Given the description of an element on the screen output the (x, y) to click on. 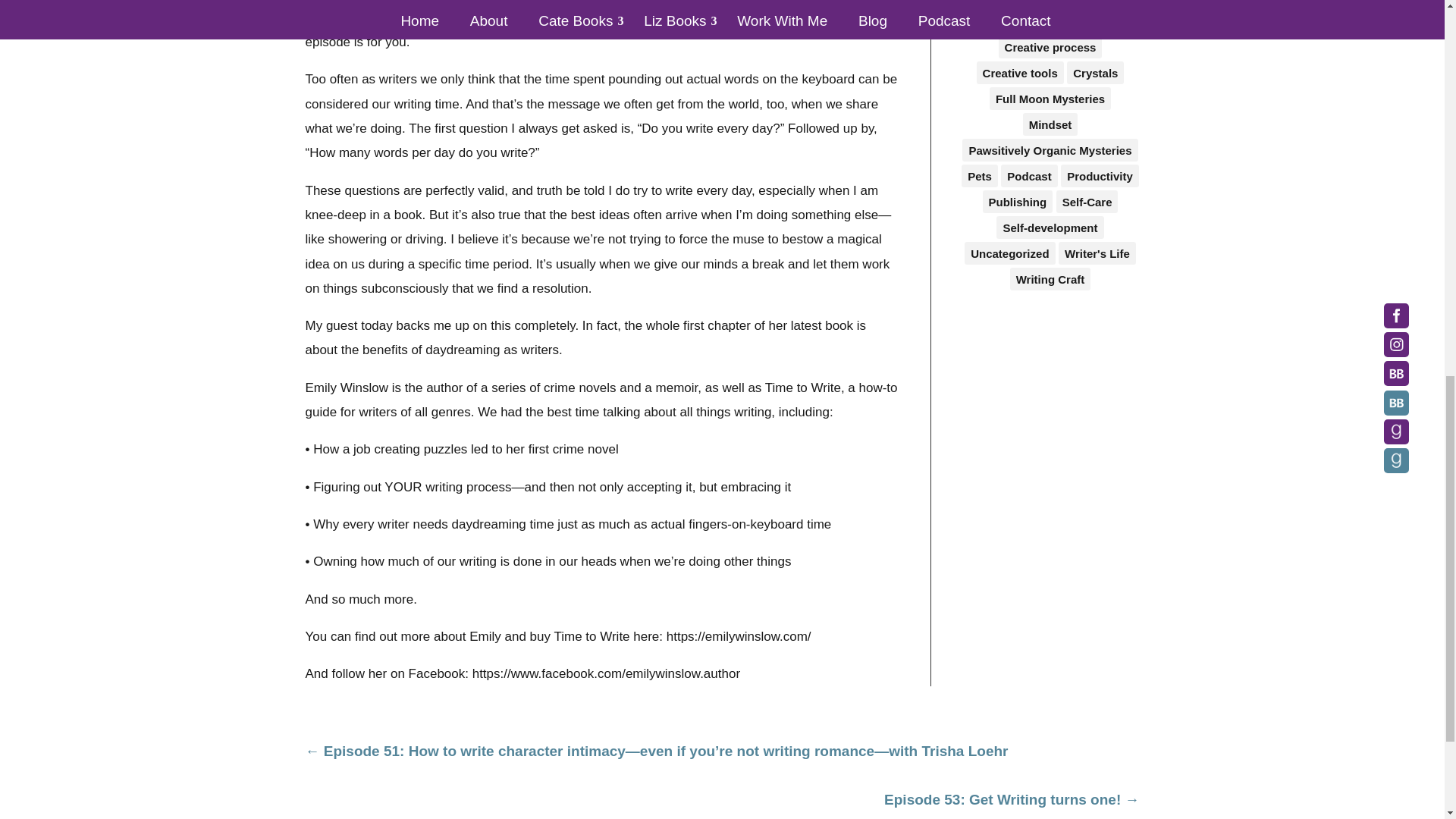
Podcast (1029, 175)
Pawsitively Organic Mysteries (1049, 149)
Publishing (1017, 201)
Productivity (1099, 175)
Mindset (1050, 124)
Creative tools (1020, 72)
Creative practice (1050, 20)
Pets (978, 175)
Creative process (1050, 47)
Cat Cafe Mysteries (1049, 3)
Full Moon Mysteries (1050, 97)
Self-Care (1087, 201)
Crystals (1095, 72)
